Given the description of an element on the screen output the (x, y) to click on. 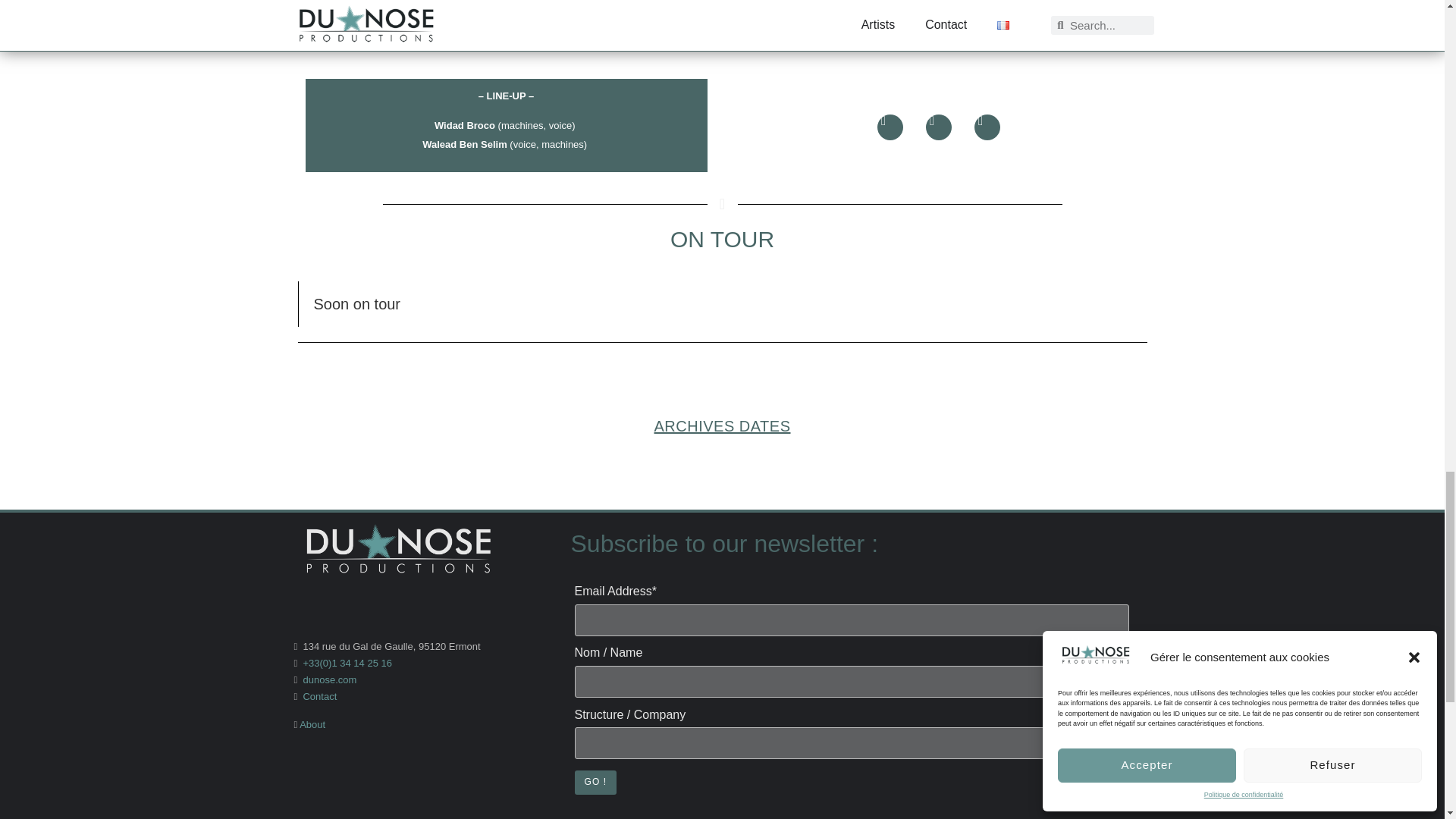
GO ! (596, 781)
